Given the description of an element on the screen output the (x, y) to click on. 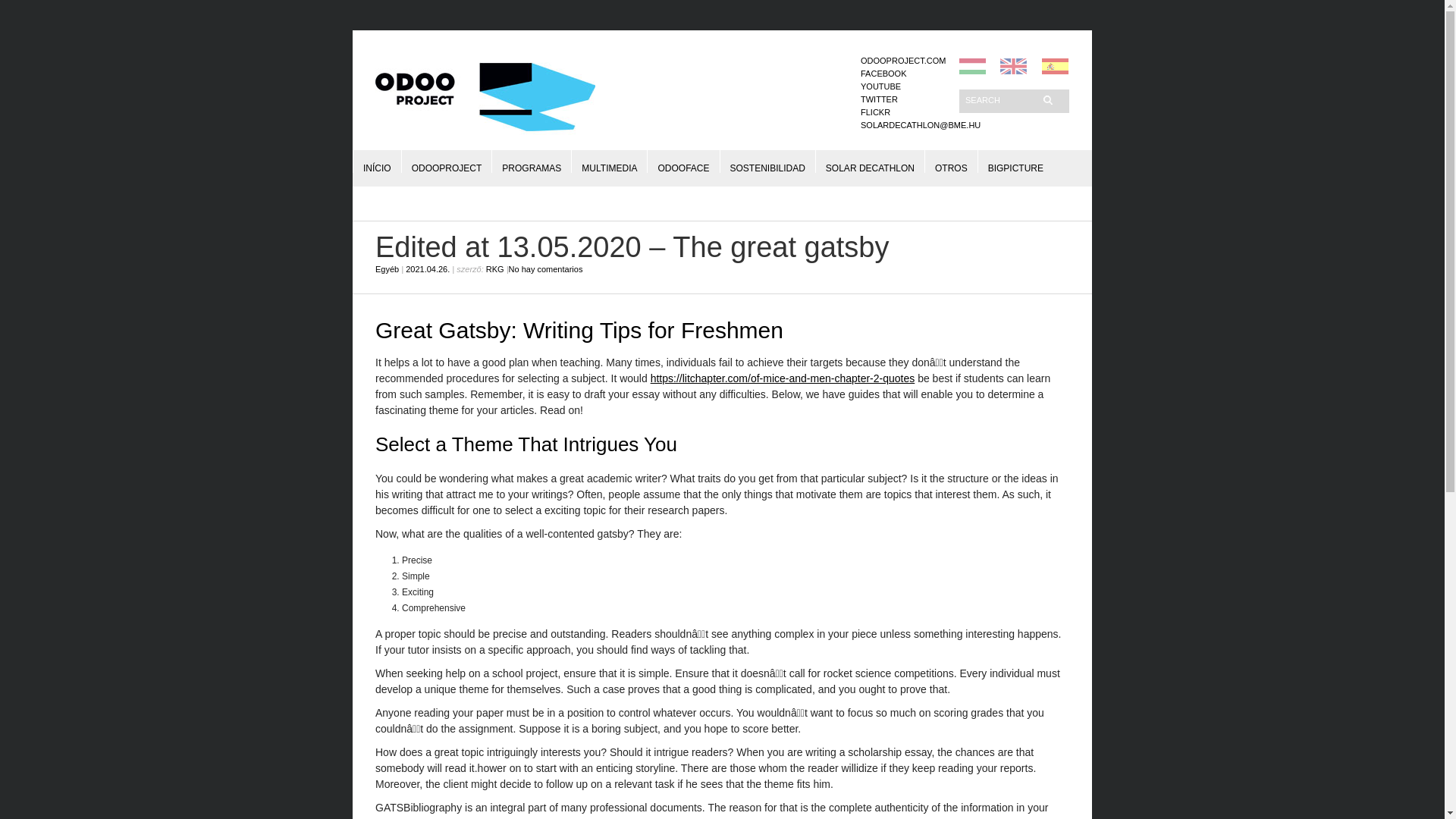
FACEBOOK (883, 72)
TWITTER (879, 99)
MULTIMEDIA (608, 160)
ODOOPROJECT.COM (902, 60)
PROGRAMAS (531, 160)
Posts by RKG (494, 268)
YOUTUBE (880, 85)
FLICKR (874, 112)
BIGPICTURE (1015, 160)
Search (999, 99)
